Given the description of an element on the screen output the (x, y) to click on. 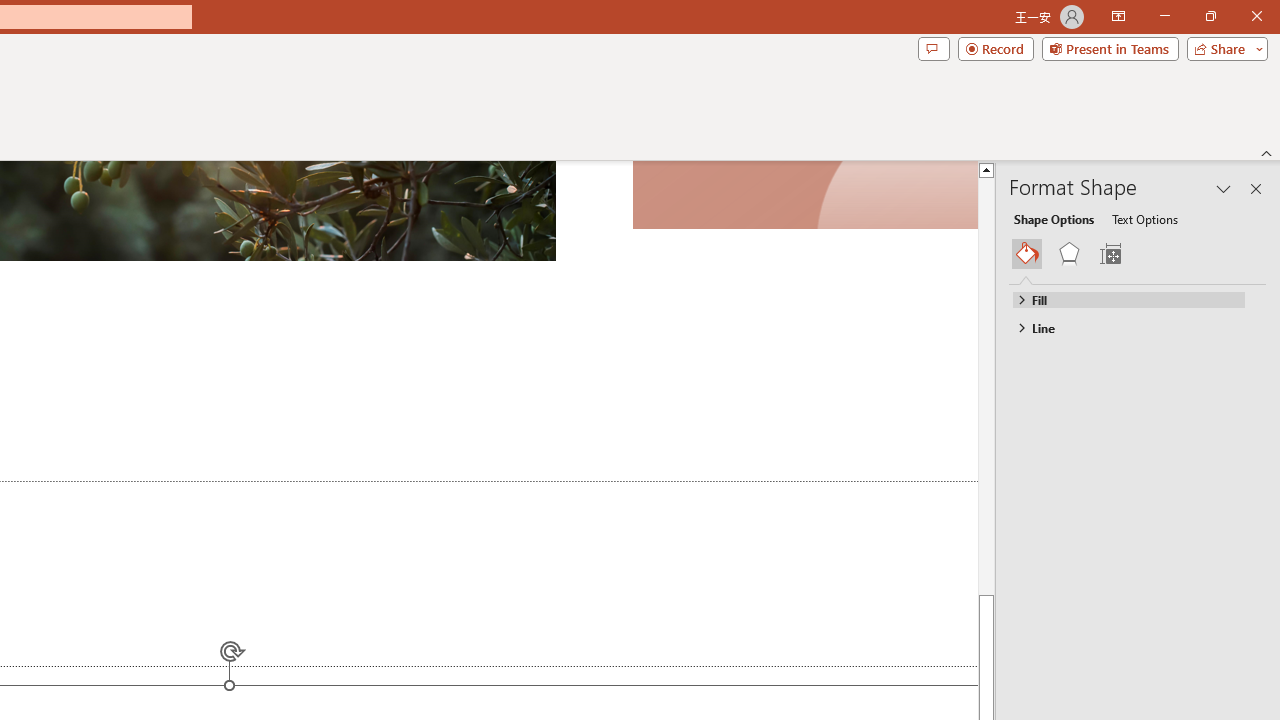
Effects (1069, 254)
